Given the description of an element on the screen output the (x, y) to click on. 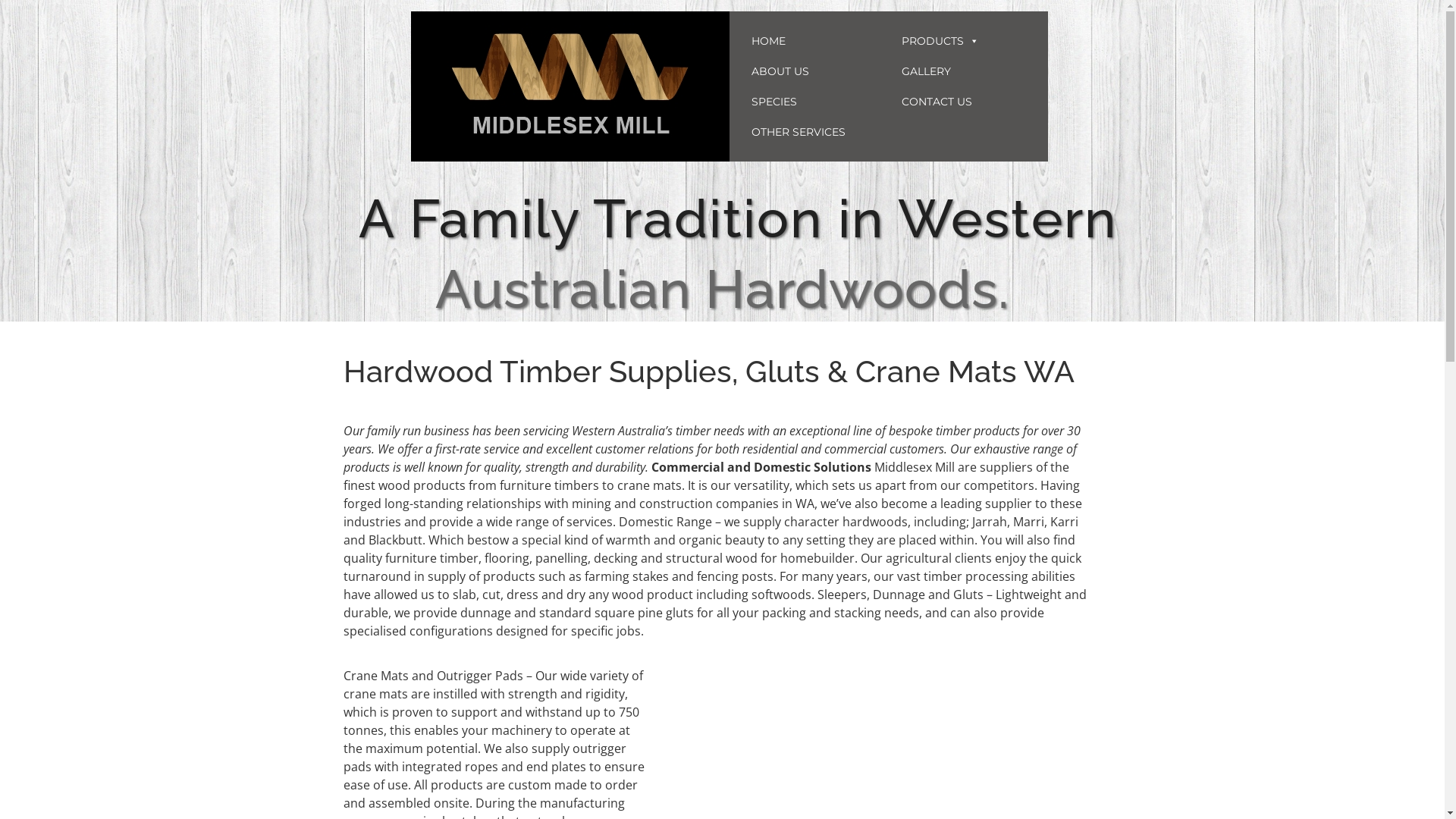
ABOUT US Element type: text (813, 71)
OTHER SERVICES Element type: text (813, 131)
SPECIES Element type: text (813, 101)
PRODUCTS Element type: text (963, 40)
CONTACT US Element type: text (963, 101)
HOME Element type: text (813, 40)
GALLERY Element type: text (963, 71)
